Given the description of an element on the screen output the (x, y) to click on. 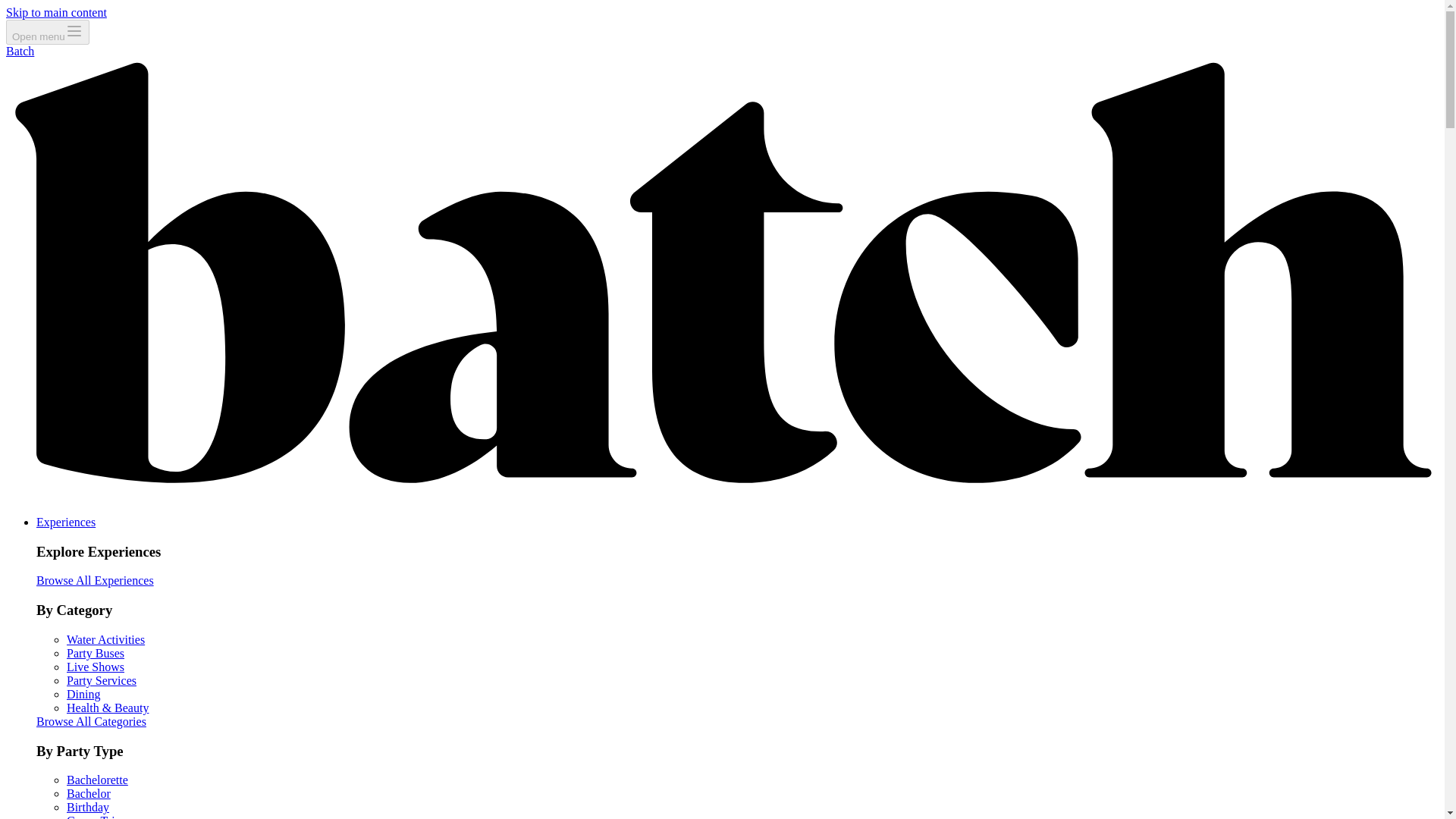
Open menu (46, 32)
Water Activities (105, 639)
Browse All Categories (91, 721)
Dining (83, 694)
Party Buses (94, 653)
Experiences (66, 521)
Group Trip (93, 816)
Skip to main content (55, 11)
Browse All Experiences (95, 580)
Birthday (87, 807)
